Given the description of an element on the screen output the (x, y) to click on. 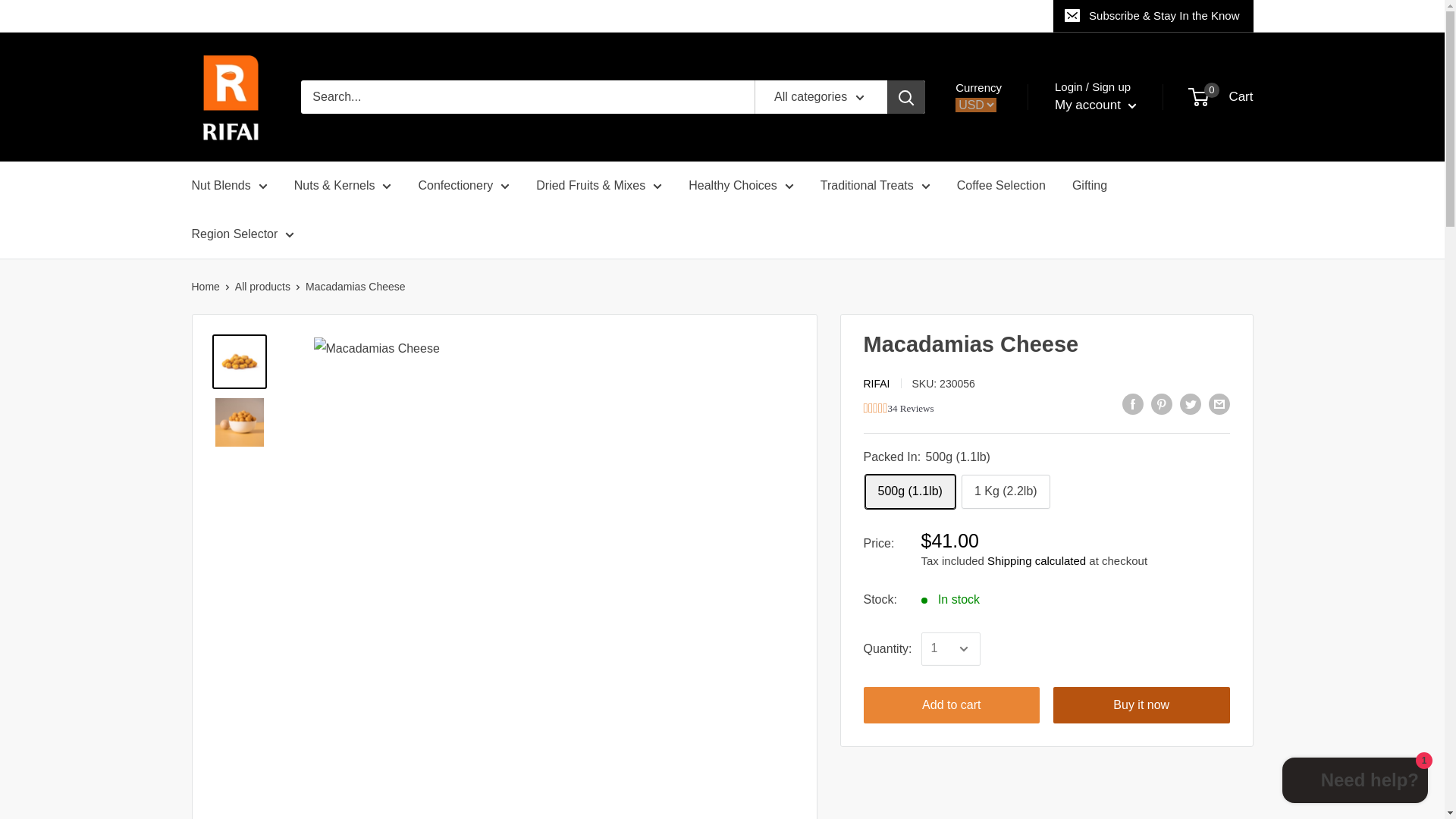
Shopify online store chat (1355, 781)
